Given the description of an element on the screen output the (x, y) to click on. 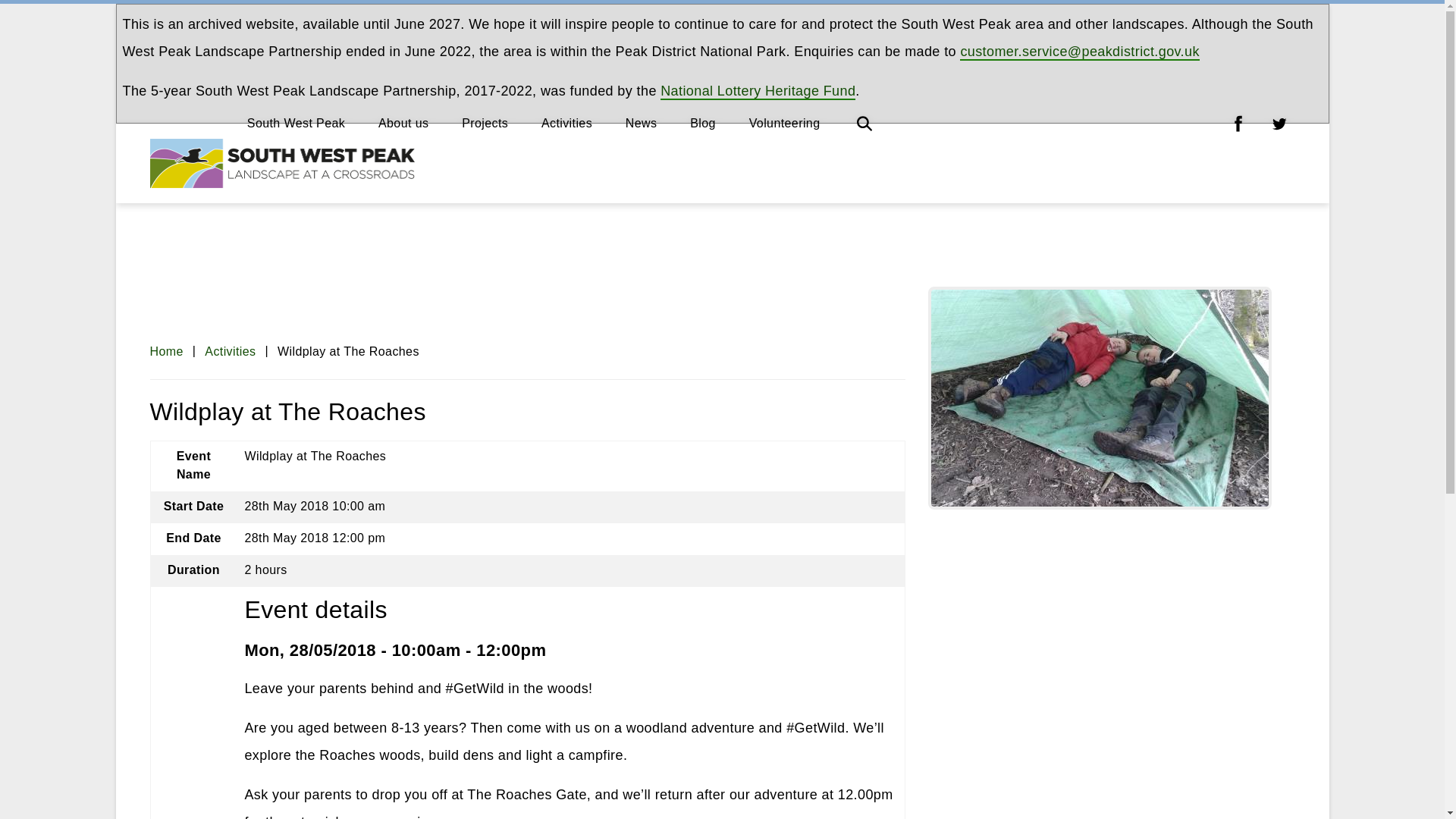
Blog (703, 123)
Search (864, 123)
News (642, 123)
Activities (230, 350)
South West Peak (296, 123)
Projects (484, 123)
Home (166, 350)
Volunteering (785, 123)
National Lottery Heritage Fund (758, 91)
About us (403, 123)
